Given the description of an element on the screen output the (x, y) to click on. 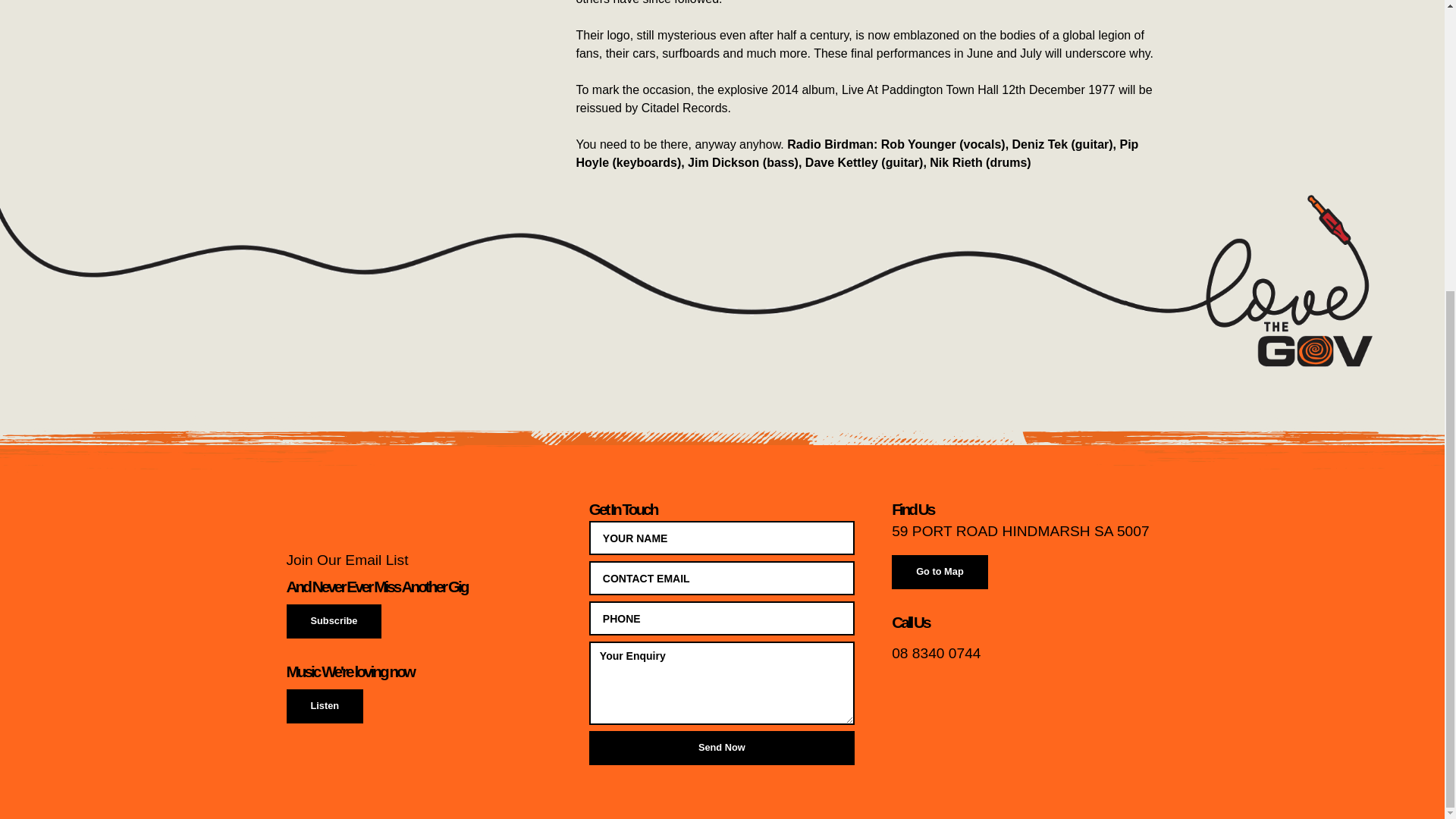
Listen (325, 706)
Subscribe (333, 621)
Go to Map (939, 571)
08 8340 0744 (935, 656)
Send Now (721, 747)
Send Now (721, 747)
